Given the description of an element on the screen output the (x, y) to click on. 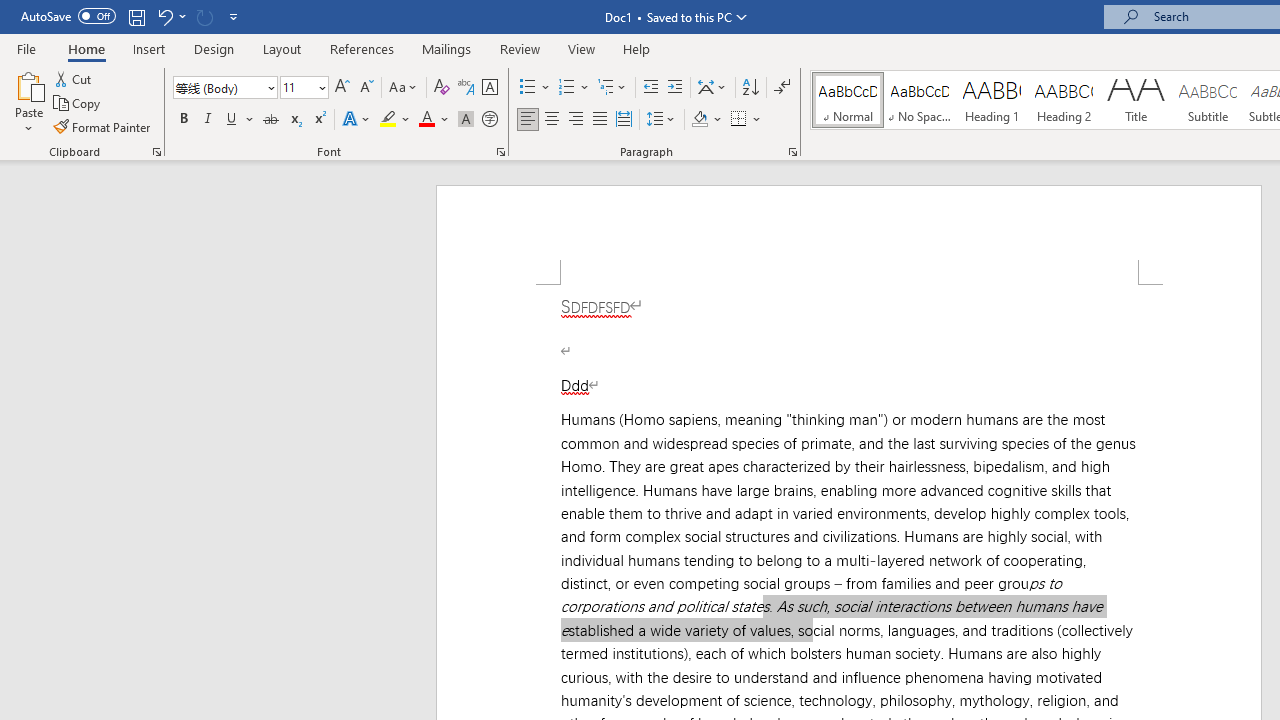
Distributed (623, 119)
Heading 2 (1063, 100)
Numbering (573, 87)
Quick Access Toolbar (131, 16)
Asian Layout (712, 87)
Review (520, 48)
Help (637, 48)
Paste (28, 102)
Text Effects and Typography (357, 119)
Multilevel List (613, 87)
Enclose Characters... (489, 119)
Office Clipboard... (156, 151)
Strikethrough (270, 119)
Borders (746, 119)
